Given the description of an element on the screen output the (x, y) to click on. 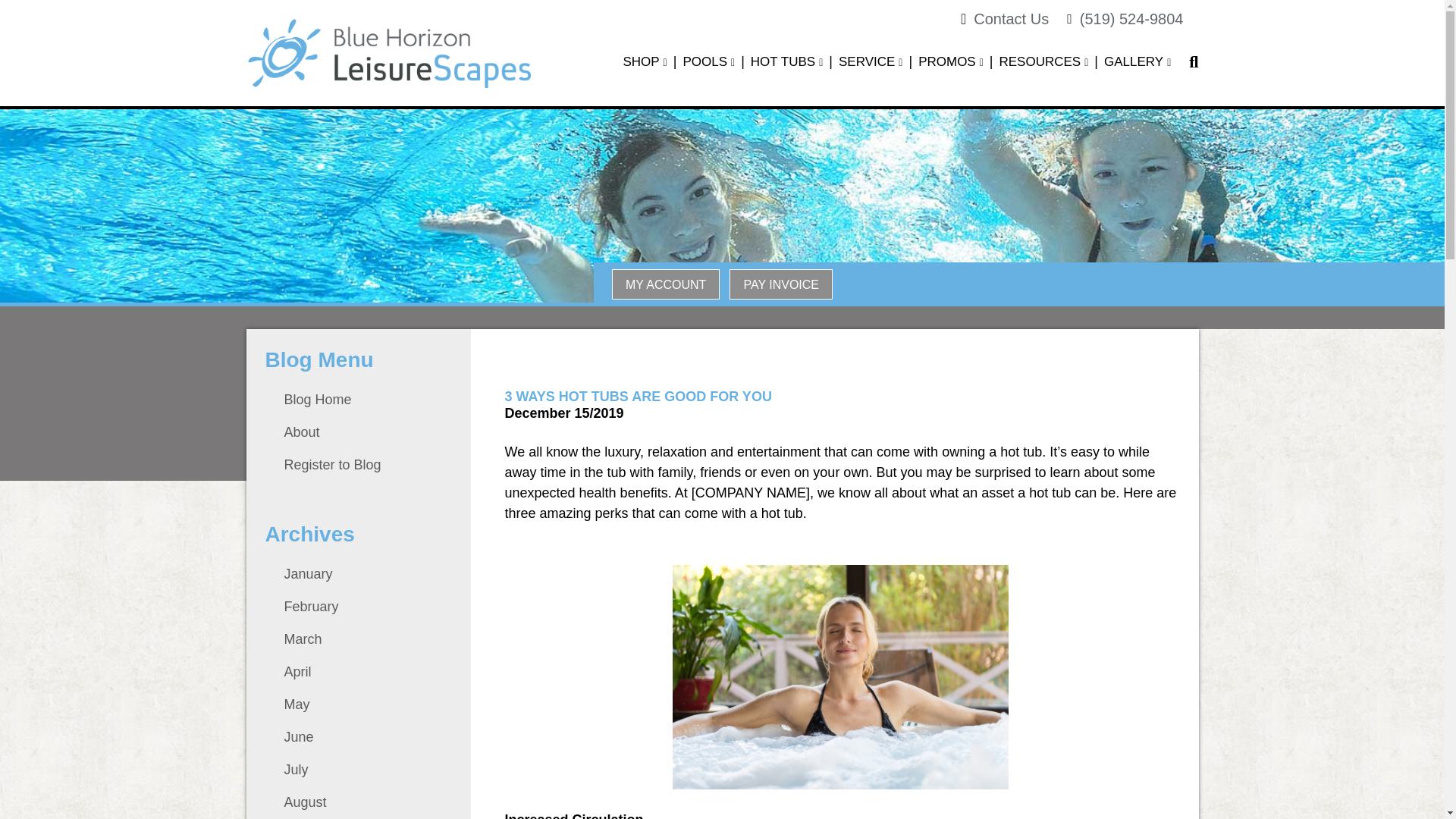
PROMOS (946, 61)
POOLS (704, 61)
MY ACCOUNT (665, 284)
Leisure Scapes (387, 53)
HOT TUBS (783, 61)
SERVICE (866, 61)
PROMOS (946, 61)
Contact Us (1011, 18)
GALLERY (1133, 61)
RESOURCES (1039, 61)
SHOP (641, 61)
RESOURCES (1039, 61)
SHOP (641, 61)
GALLERY (1133, 61)
HOT TUBS (783, 61)
